Given the description of an element on the screen output the (x, y) to click on. 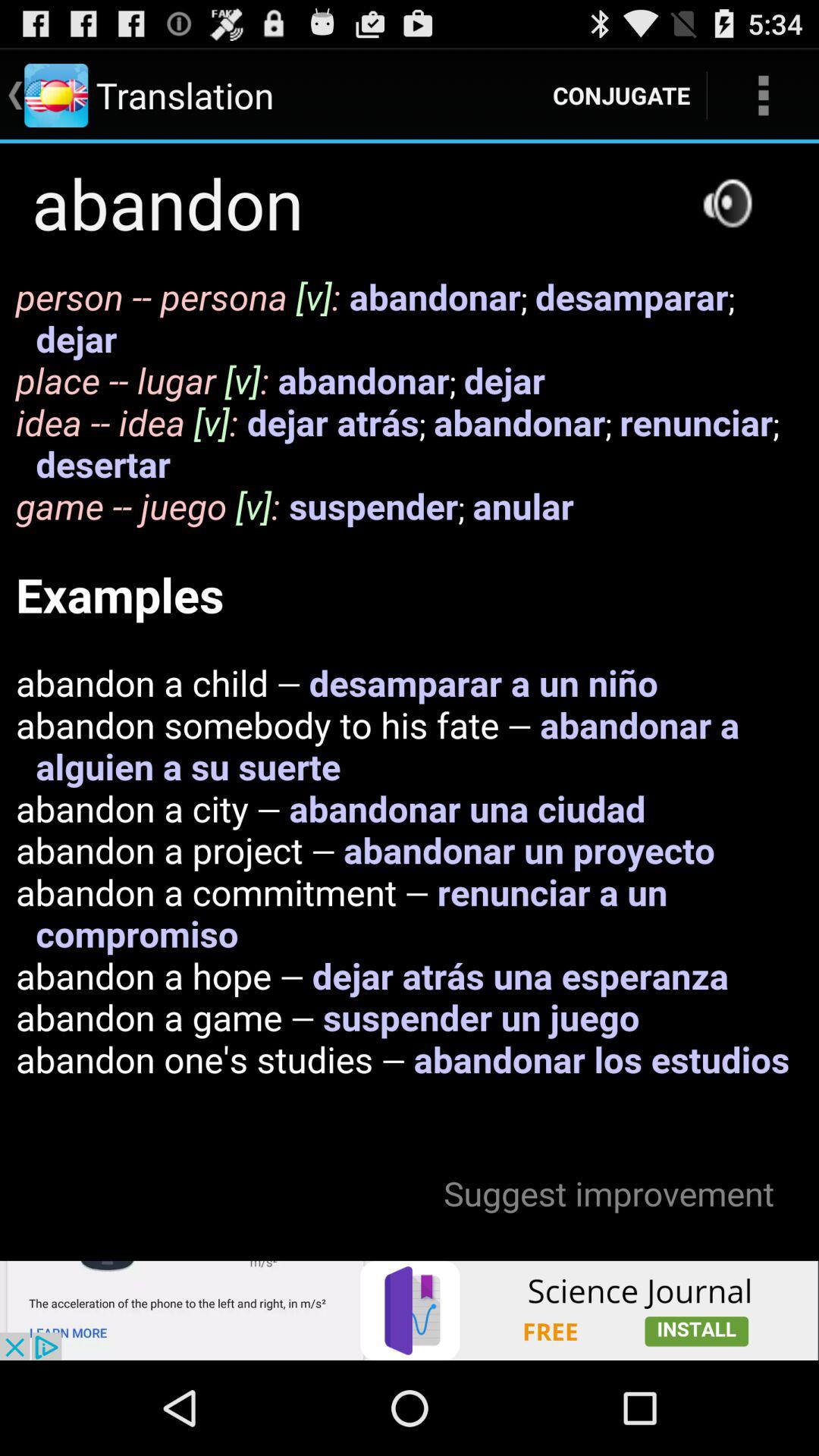
go to sound option (727, 202)
